Given the description of an element on the screen output the (x, y) to click on. 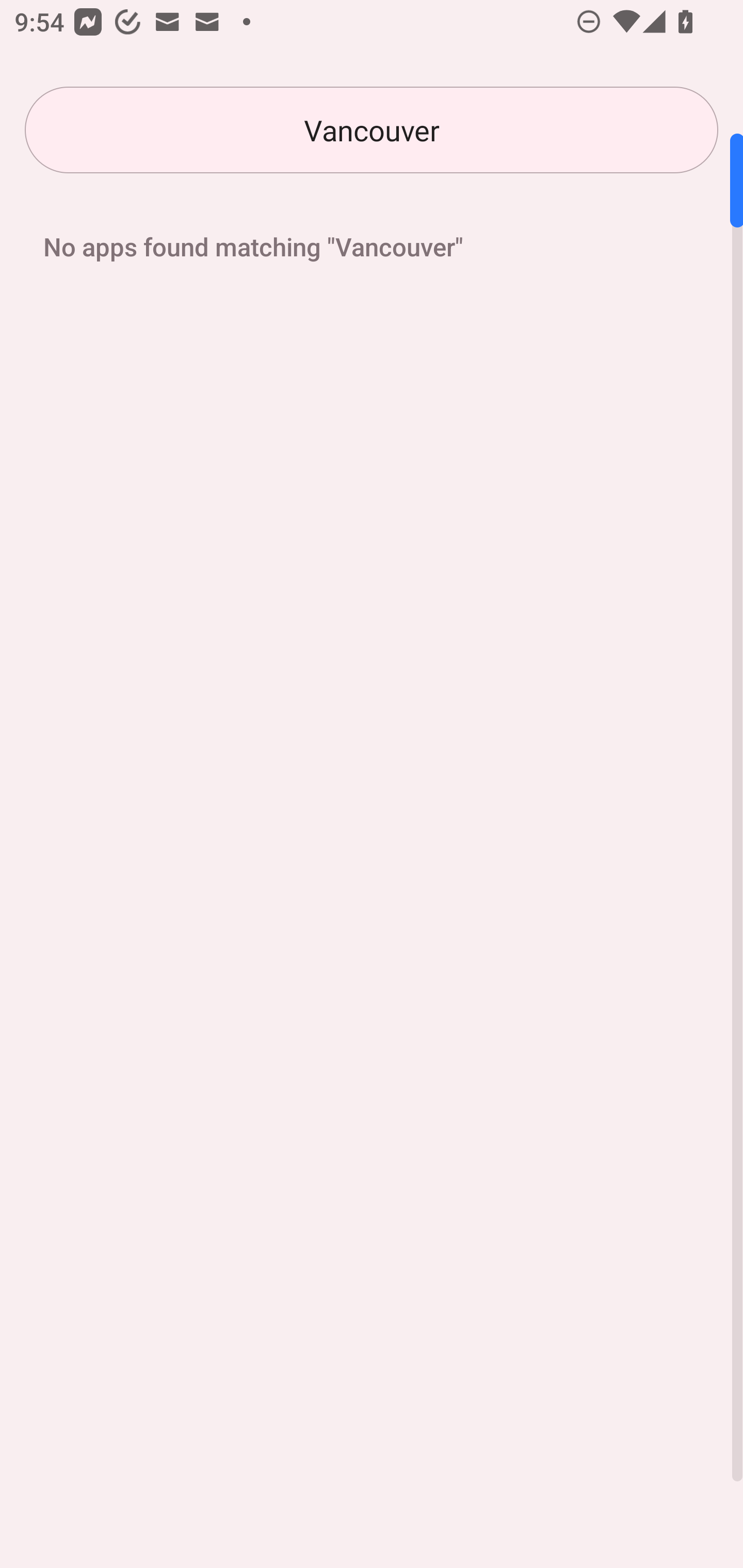
Vancouver (371, 130)
